Given the description of an element on the screen output the (x, y) to click on. 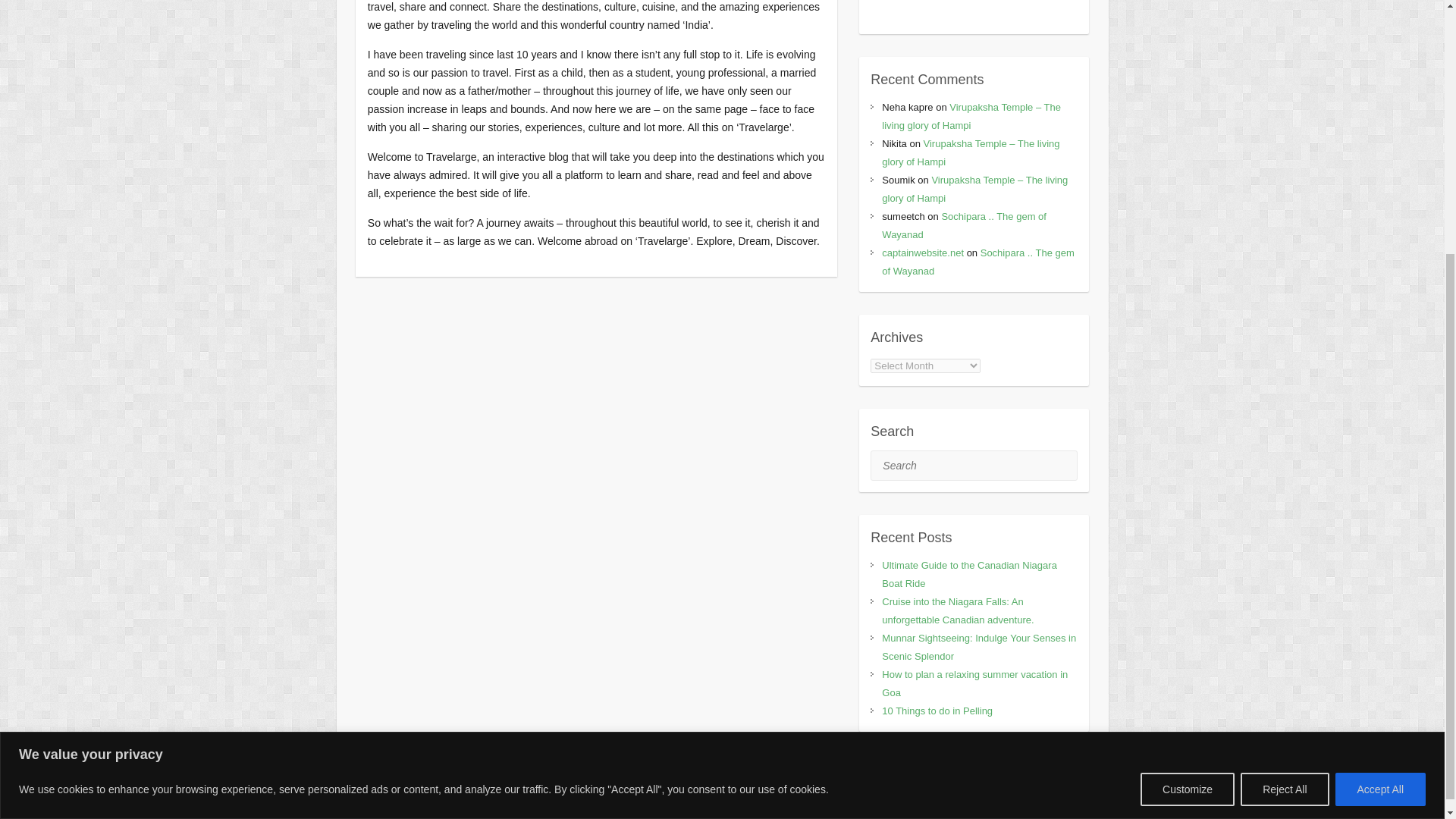
Reject All (1283, 422)
TRAVELARGE (454, 798)
WordPress (639, 798)
Sochipara .. The gem of Wayanad (964, 225)
Accept All (1380, 422)
Customize (1187, 422)
Colorlib (548, 798)
